Given the description of an element on the screen output the (x, y) to click on. 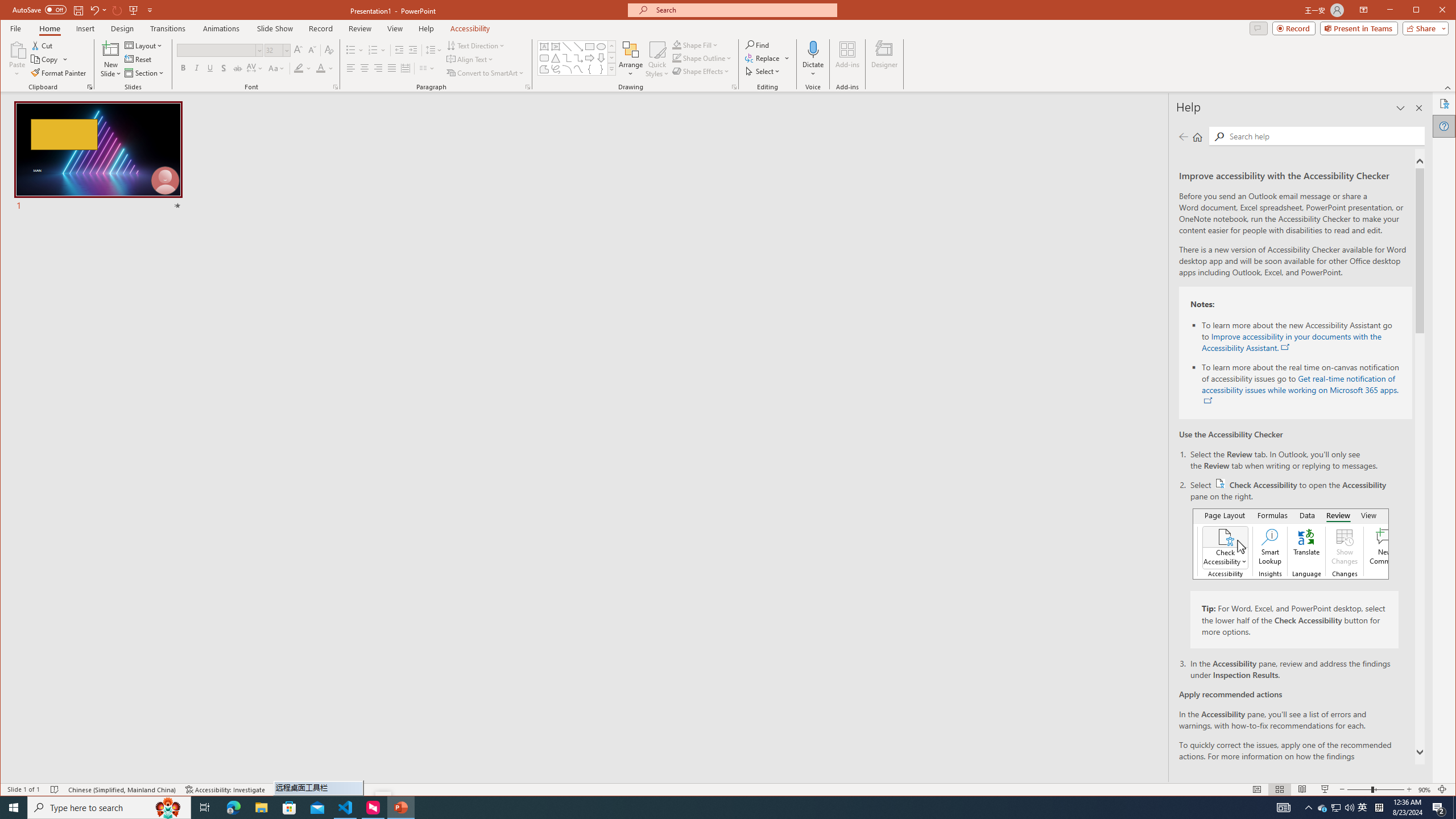
Check accessibility button (1219, 483)
